Given the description of an element on the screen output the (x, y) to click on. 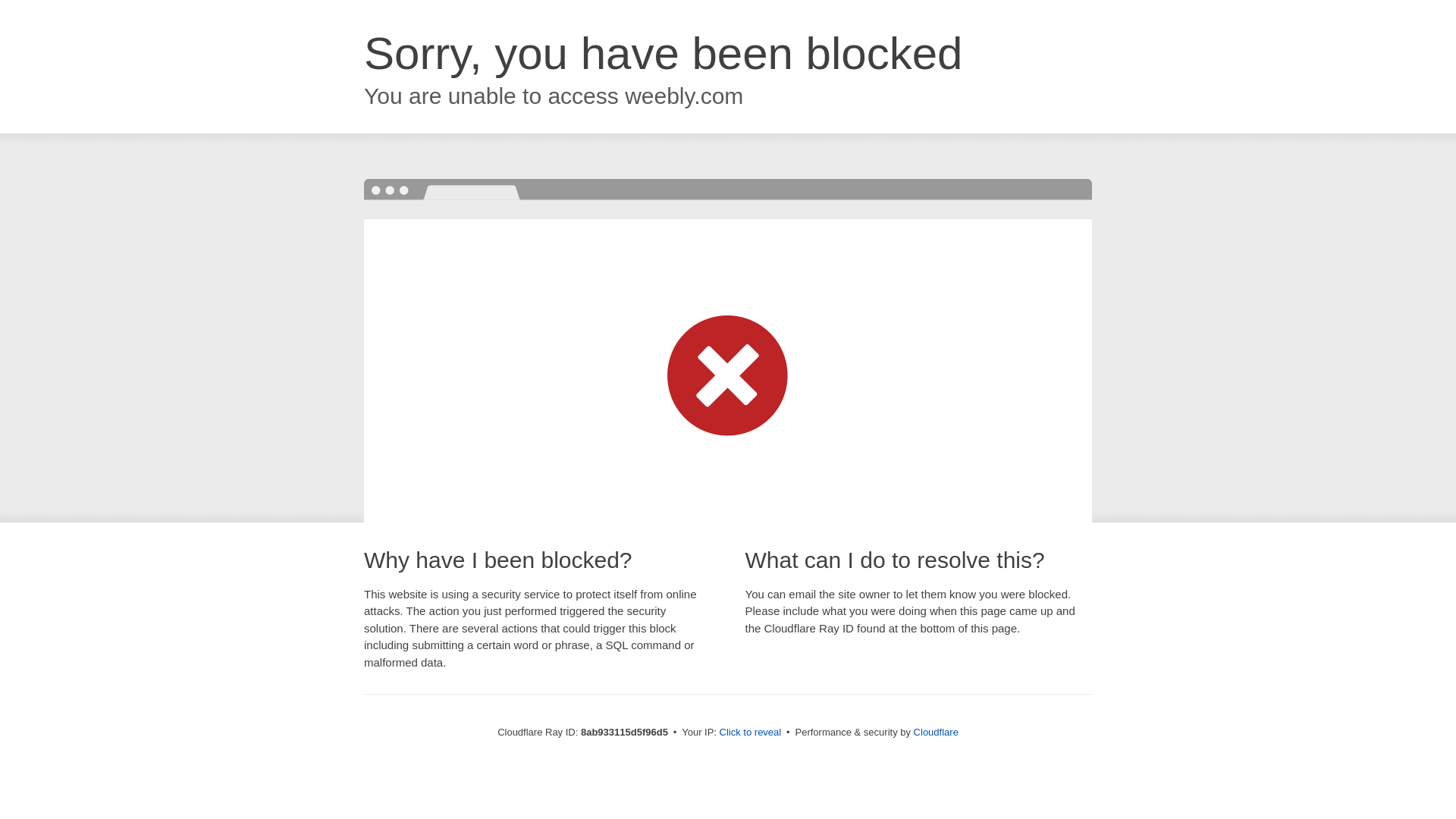
Click to reveal (750, 732)
Cloudflare (936, 731)
